Given the description of an element on the screen output the (x, y) to click on. 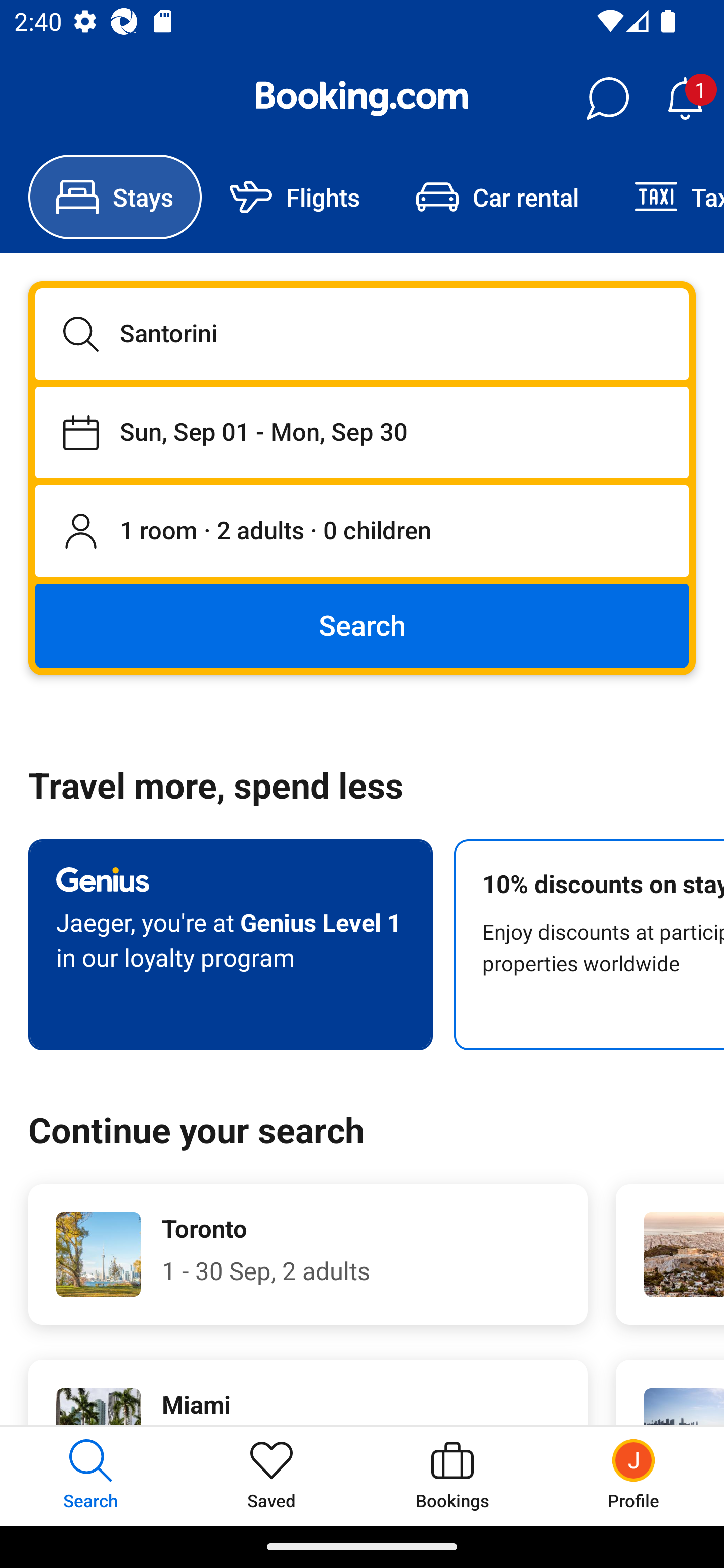
Messages (607, 98)
Notifications (685, 98)
Stays (114, 197)
Flights (294, 197)
Car rental (497, 197)
Taxi (665, 197)
Santorini (361, 333)
Staying from Sun, Sep 01 until Mon, Sep 30 (361, 432)
1 room, 2 adults, 0 children (361, 531)
Search (361, 625)
Toronto 1 - 30 Sep, 2 adults (307, 1253)
Saved (271, 1475)
Bookings (452, 1475)
Profile (633, 1475)
